Given the description of an element on the screen output the (x, y) to click on. 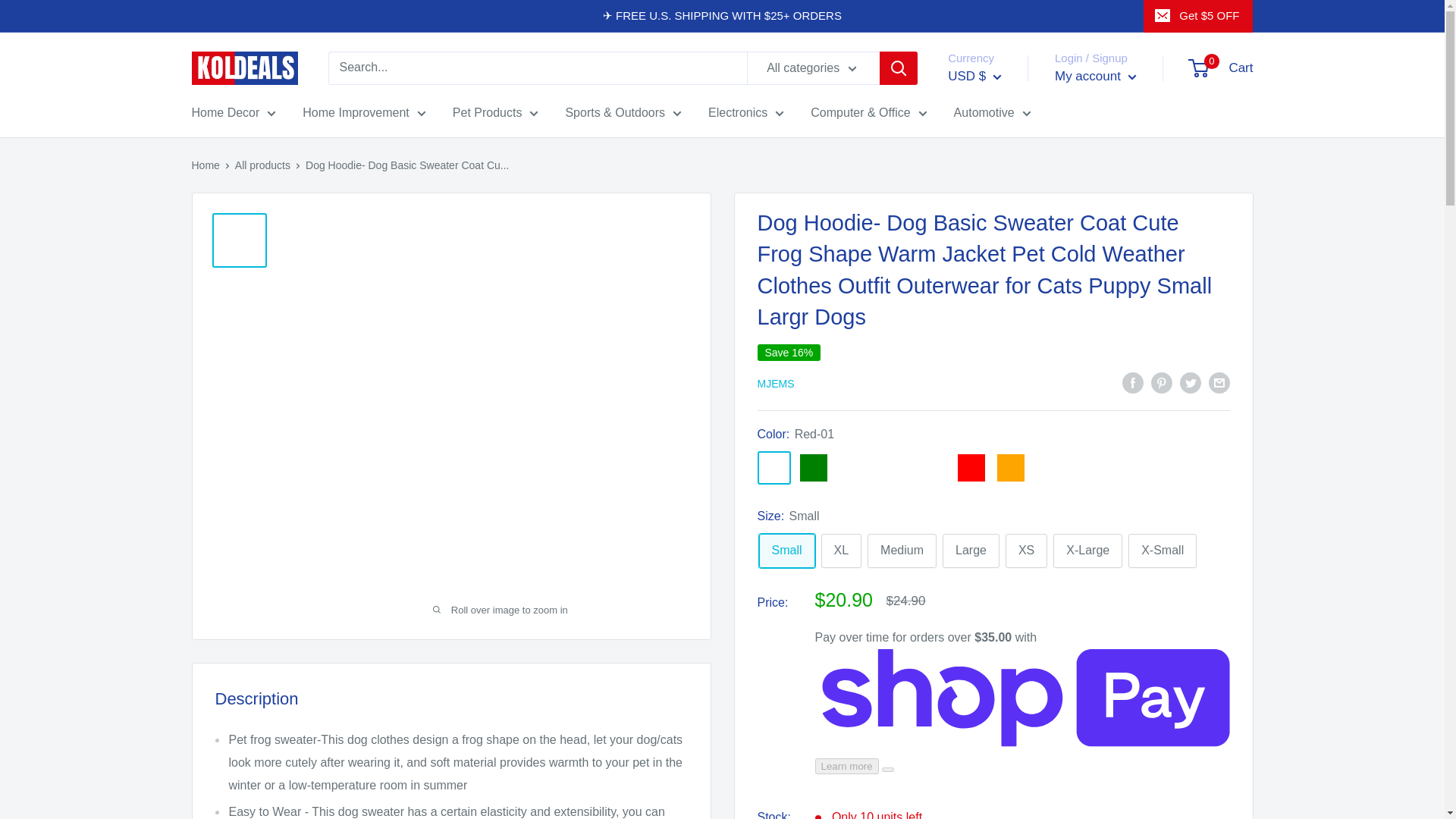
Red (970, 467)
Medium (901, 550)
X-Large (1087, 550)
XL (841, 550)
White-01 (891, 467)
Large (970, 550)
XS (1026, 550)
Yellow-01 (930, 467)
Orange (1009, 467)
X-Small (1162, 550)
Green (813, 467)
Small (785, 550)
Red-01 (773, 467)
Light Brown (852, 467)
